Given the description of an element on the screen output the (x, y) to click on. 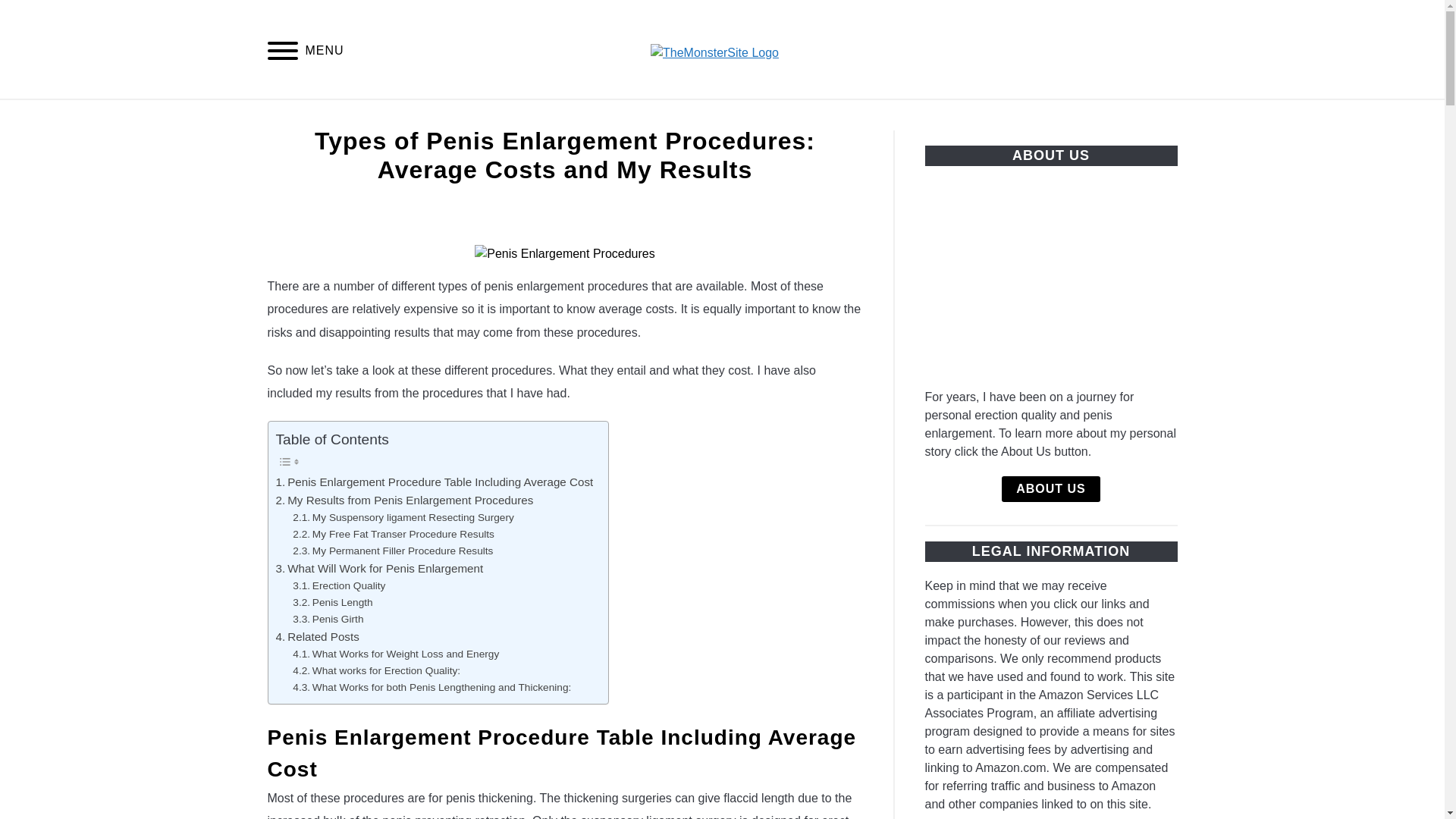
Erection Quality (338, 586)
What Works for Weight Loss and Energy (395, 654)
What works for Erection Quality: (376, 670)
My Permanent Filler Procedure Results (392, 550)
WHAT DOES NOT WORK (1006, 117)
PENIS SIZE (1154, 117)
Erection Quality (338, 586)
Penis Girth (327, 619)
HOME (272, 117)
